Given the description of an element on the screen output the (x, y) to click on. 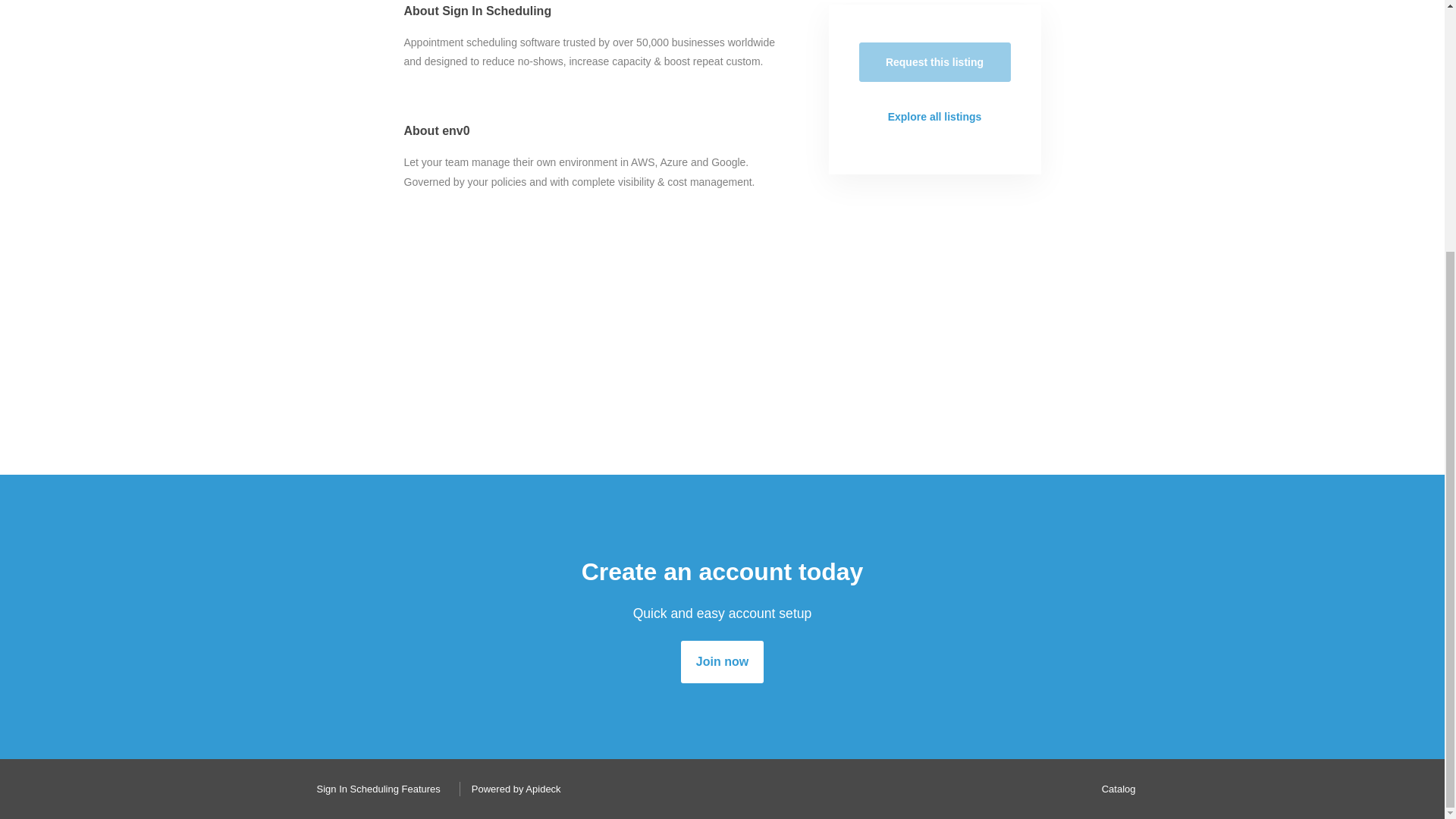
Powered by Apideck (512, 789)
Catalog (1115, 789)
Sign In Scheduling Features (374, 789)
Explore all listings (934, 116)
Request this listing (934, 61)
Join now (721, 661)
